Given the description of an element on the screen output the (x, y) to click on. 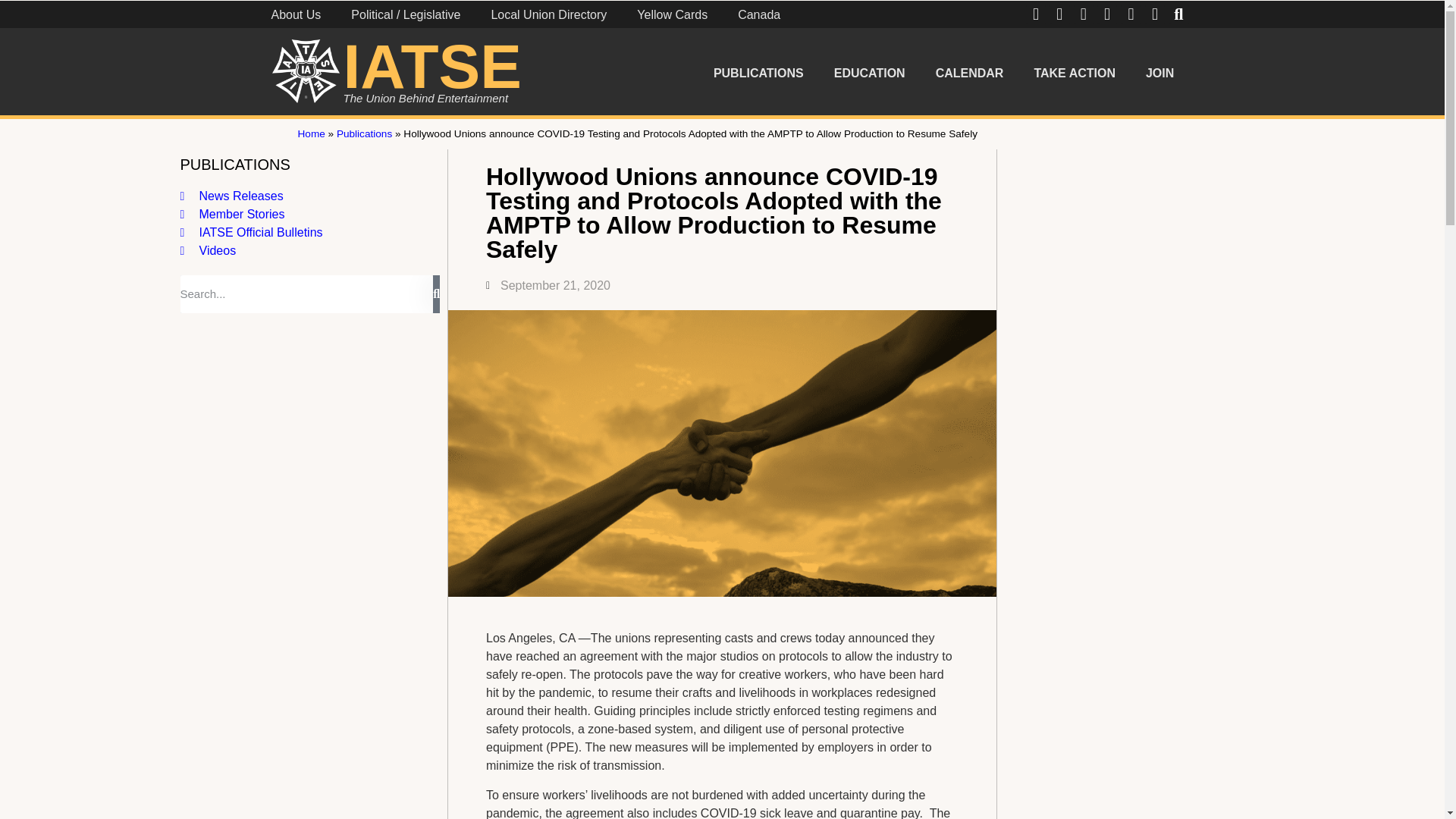
TAKE ACTION (1074, 73)
About Us (296, 16)
IATSE (431, 65)
PUBLICATIONS (758, 73)
Yellow Cards (671, 16)
Local Union Directory (548, 16)
Canada (758, 16)
Search (306, 293)
EDUCATION (869, 73)
JOIN (1160, 73)
CALENDAR (969, 73)
